Given the description of an element on the screen output the (x, y) to click on. 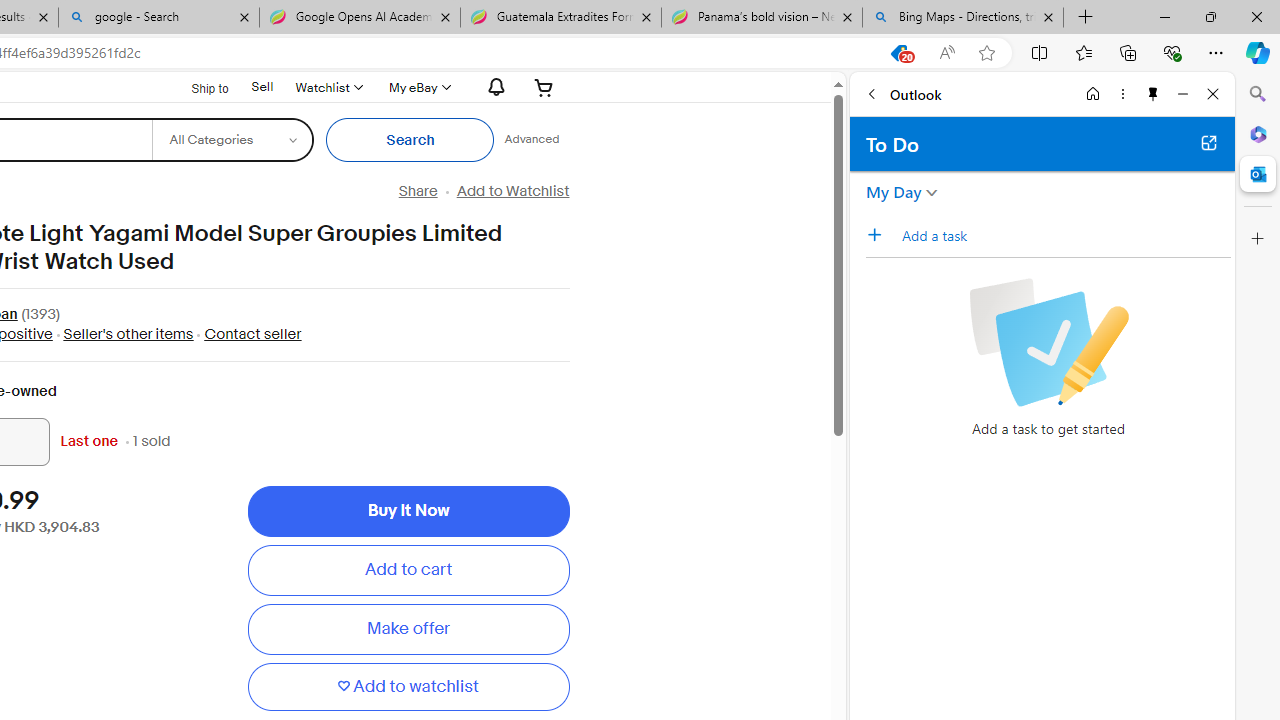
My eBay (418, 87)
My eBayExpand My eBay (418, 87)
My Day (893, 191)
(1393) (40, 315)
Ship to (197, 85)
WatchlistExpand Watch List (328, 87)
Open in new tab (1208, 142)
Watchlist (328, 87)
